Given the description of an element on the screen output the (x, y) to click on. 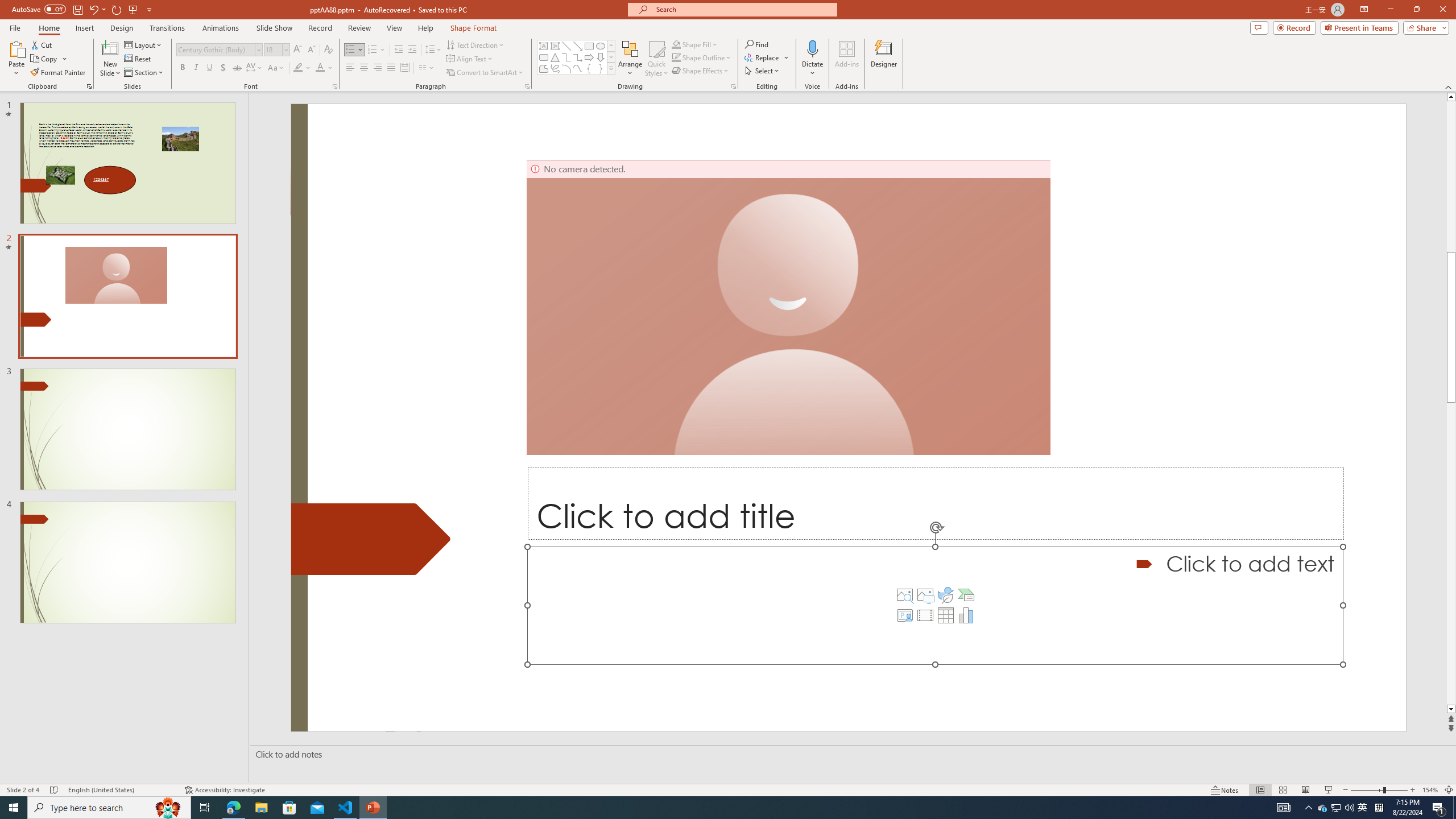
Beveled Oval, Black (566, 56)
Picture Border (1071, 44)
Decorative Locked (370, 538)
Beveled Matte, White (312, 56)
Compound Frame, Black (598, 56)
Soft Edge Rectangle (439, 56)
Bevel Rectangle (917, 56)
Size and Position... (1435, 85)
Bevel Perspective (949, 56)
Bevel Perspective Left, White (1013, 56)
